Given the description of an element on the screen output the (x, y) to click on. 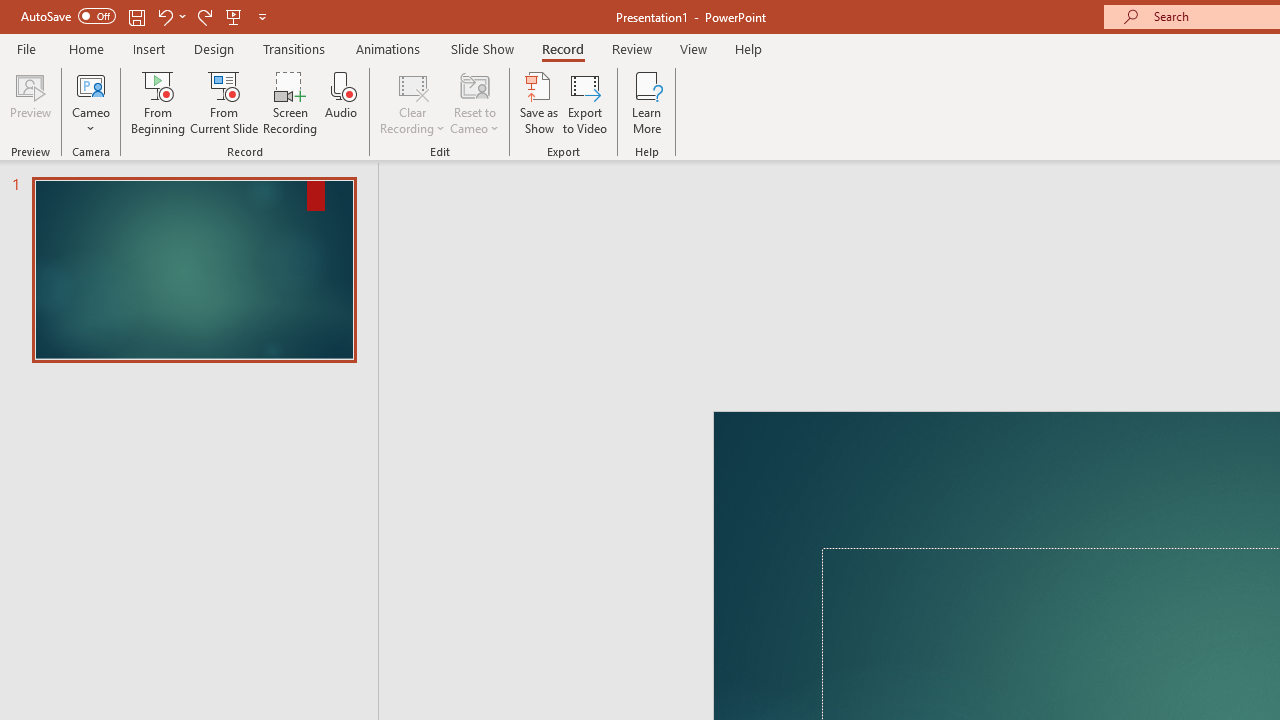
From Beginning... (158, 102)
Cameo (91, 102)
From Current Slide... (224, 102)
Clear Recording (412, 102)
Reset to Cameo (474, 102)
Audio (341, 102)
